Given the description of an element on the screen output the (x, y) to click on. 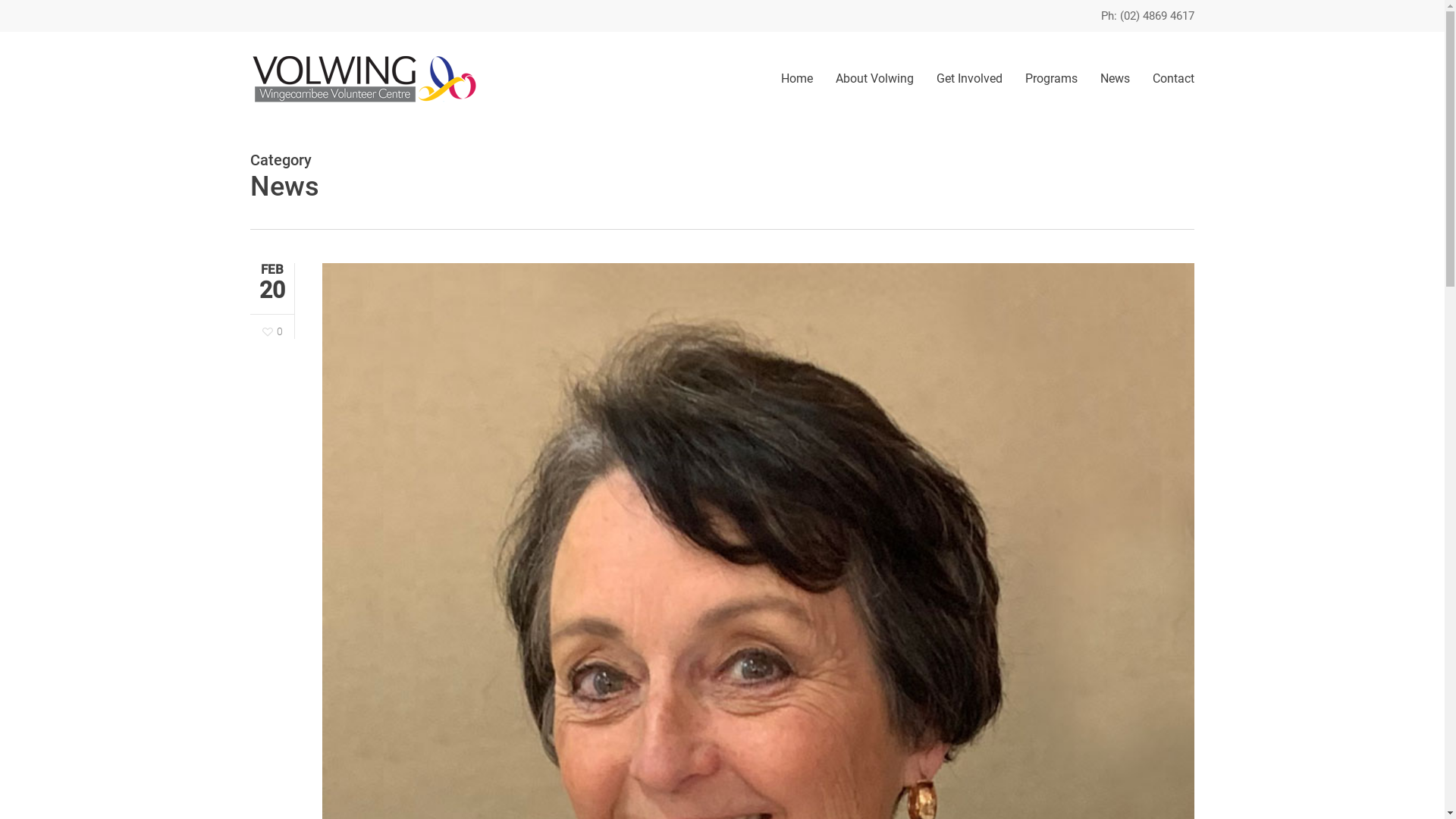
Ph: (02) 4869 4617 Element type: text (1147, 15)
Get Involved Element type: text (969, 78)
Contact Element type: text (1167, 78)
News Element type: text (1114, 78)
0 Element type: text (272, 331)
About Volwing Element type: text (874, 78)
Home Element type: text (796, 78)
Programs Element type: text (1050, 78)
